Given the description of an element on the screen output the (x, y) to click on. 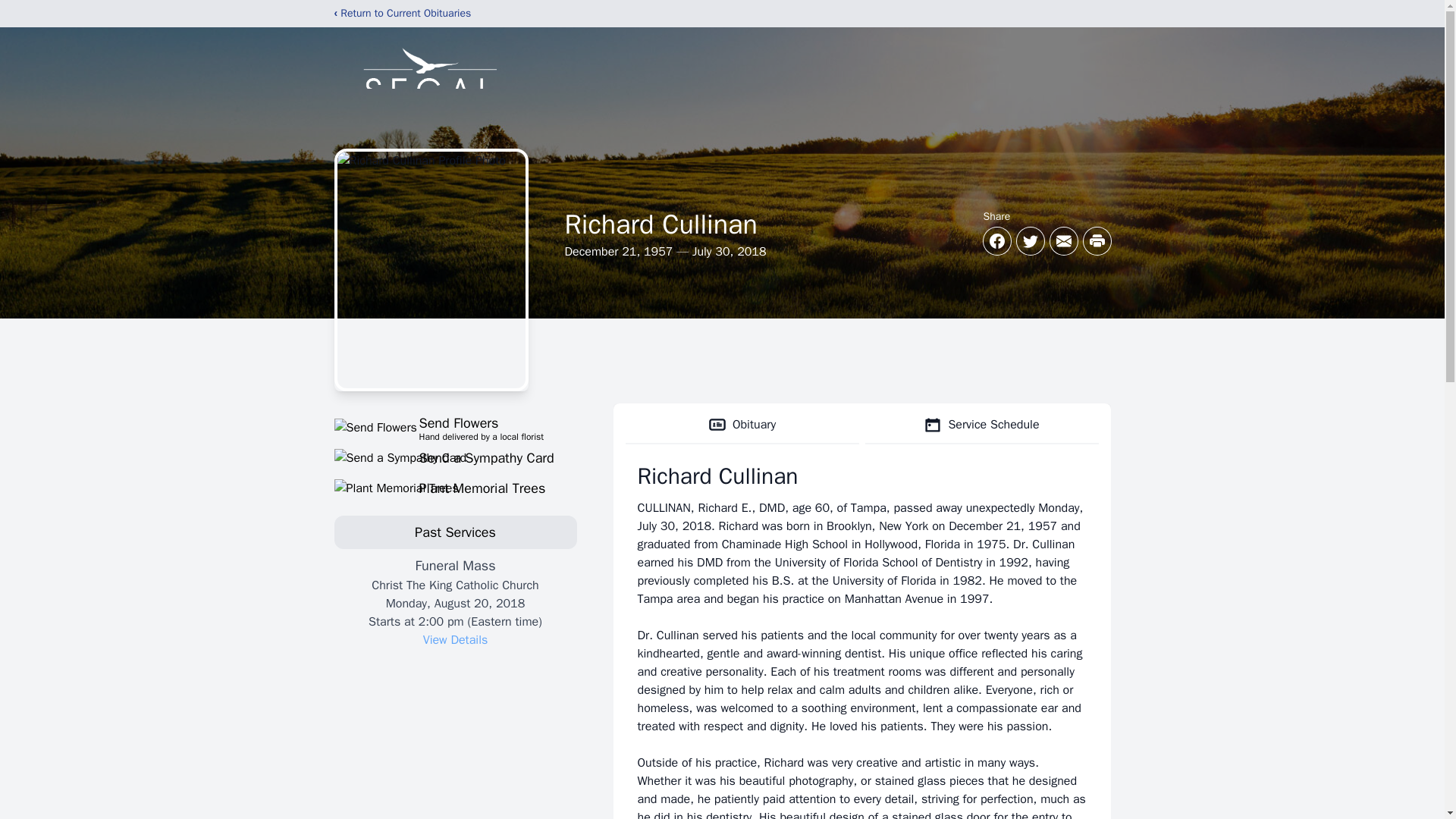
View Details (455, 639)
Obituary (741, 425)
Send a Sympathy Card (454, 457)
Plant Memorial Trees (454, 427)
Service Schedule (454, 488)
